Given the description of an element on the screen output the (x, y) to click on. 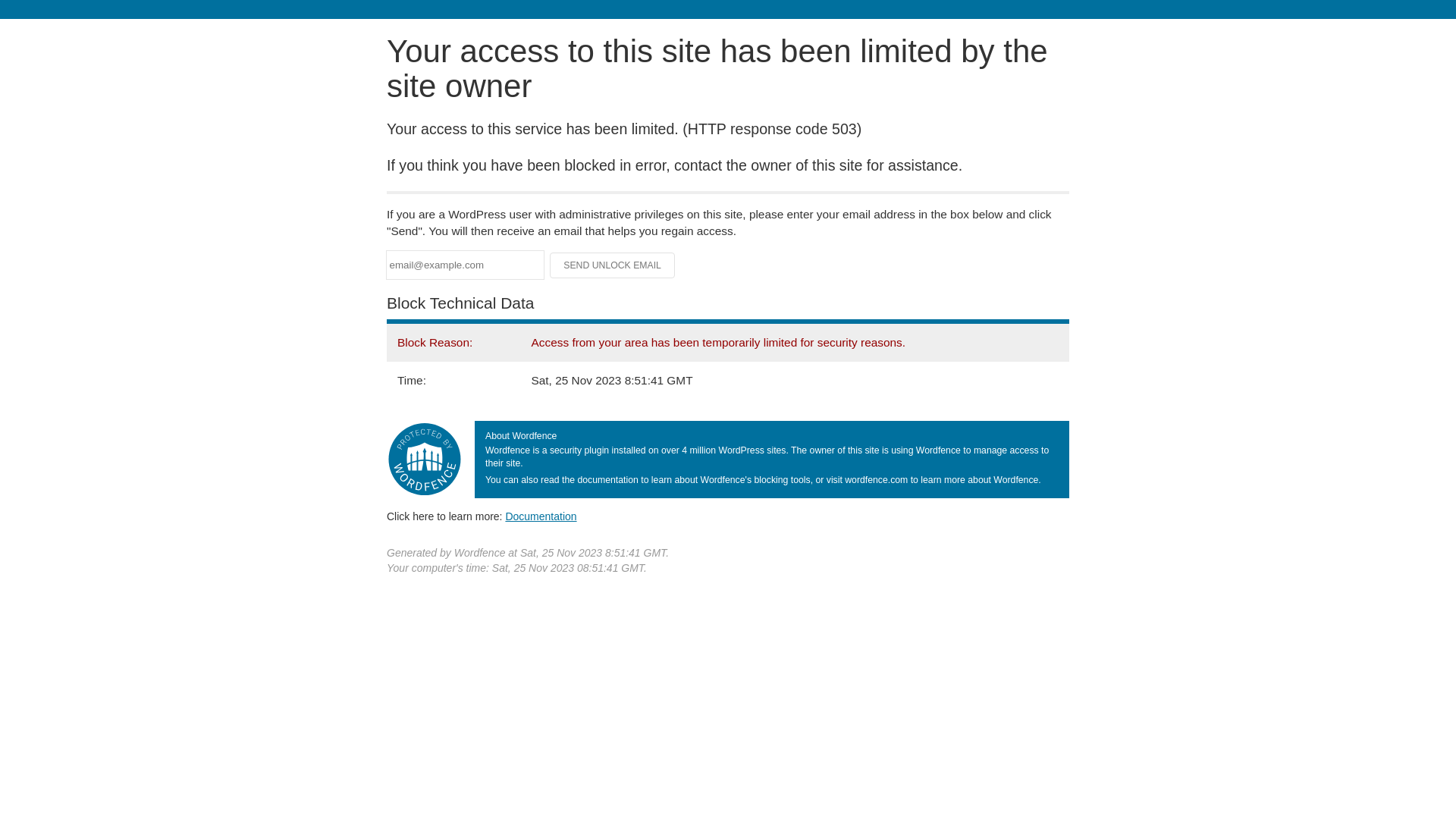
Send Unlock Email Element type: text (612, 265)
Documentation Element type: text (540, 516)
